Given the description of an element on the screen output the (x, y) to click on. 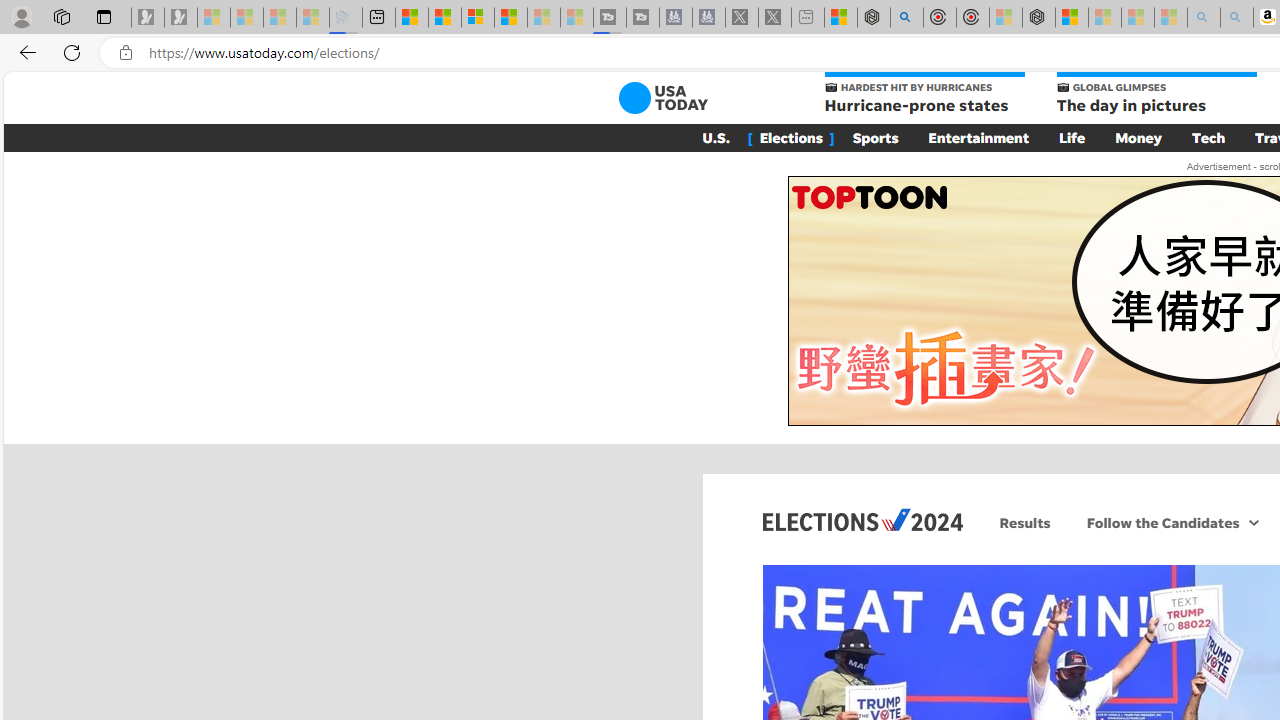
poe - Search (906, 17)
